Given the description of an element on the screen output the (x, y) to click on. 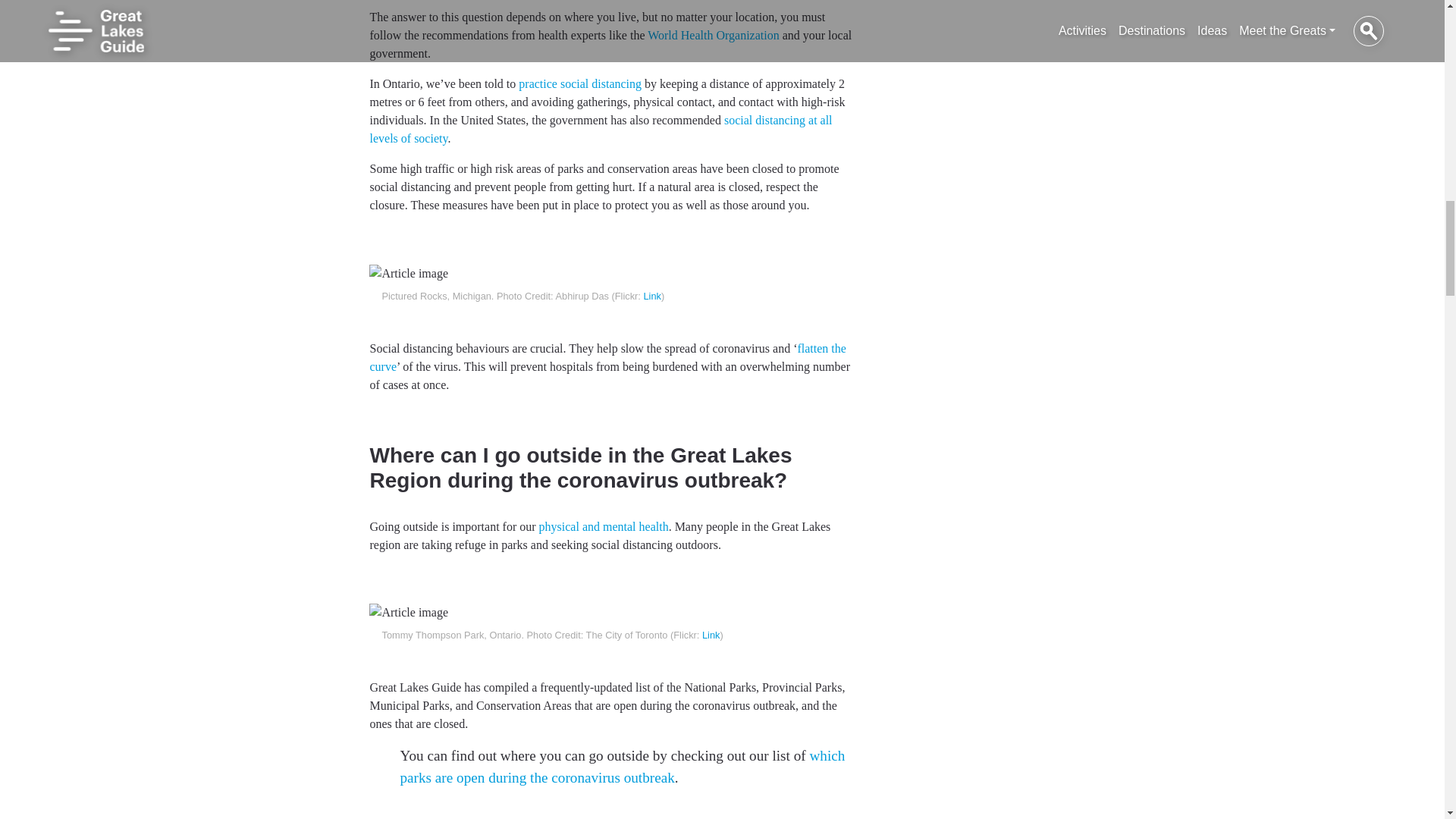
social distancing at all levels of society (600, 128)
flatten the curve (607, 357)
which parks are open during the coronavirus outbreak (621, 766)
physical and mental health (603, 526)
World Health Organization (712, 34)
Link (710, 634)
Link (652, 296)
practice social distancing (580, 83)
